Given the description of an element on the screen output the (x, y) to click on. 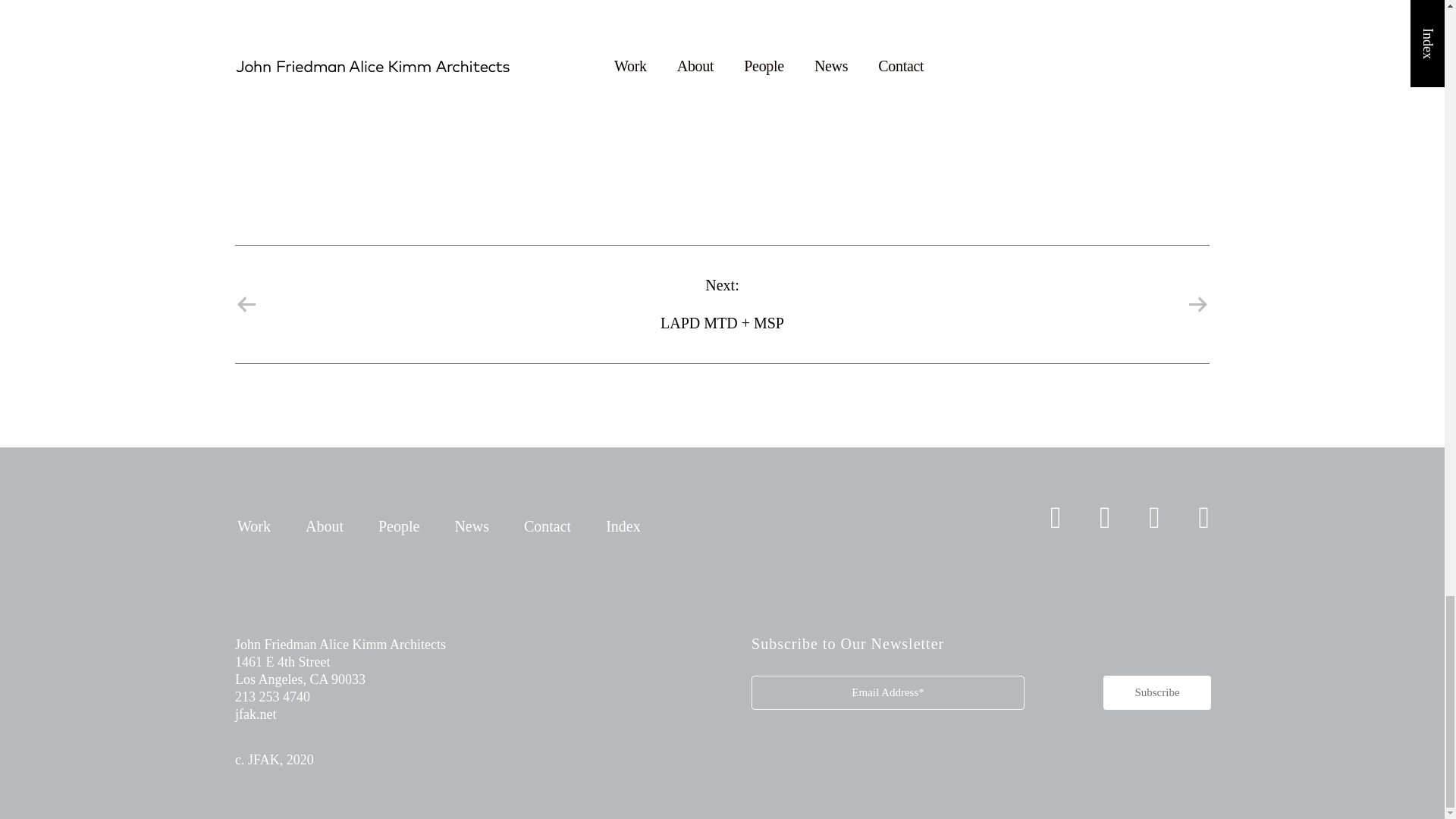
Subscribe (1157, 692)
